Given the description of an element on the screen output the (x, y) to click on. 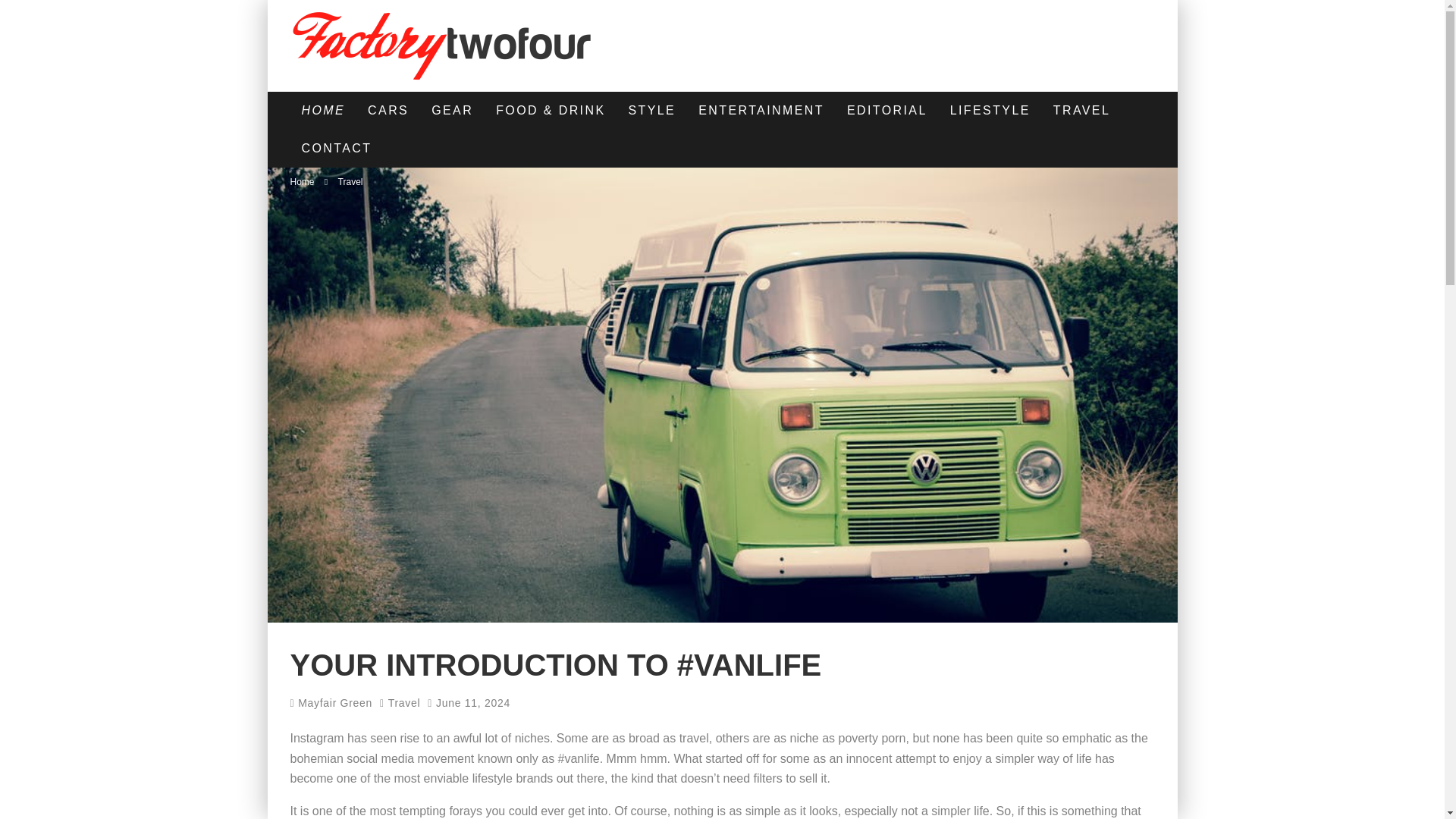
GEAR (452, 110)
CARS (388, 110)
HOME (322, 110)
